Given the description of an element on the screen output the (x, y) to click on. 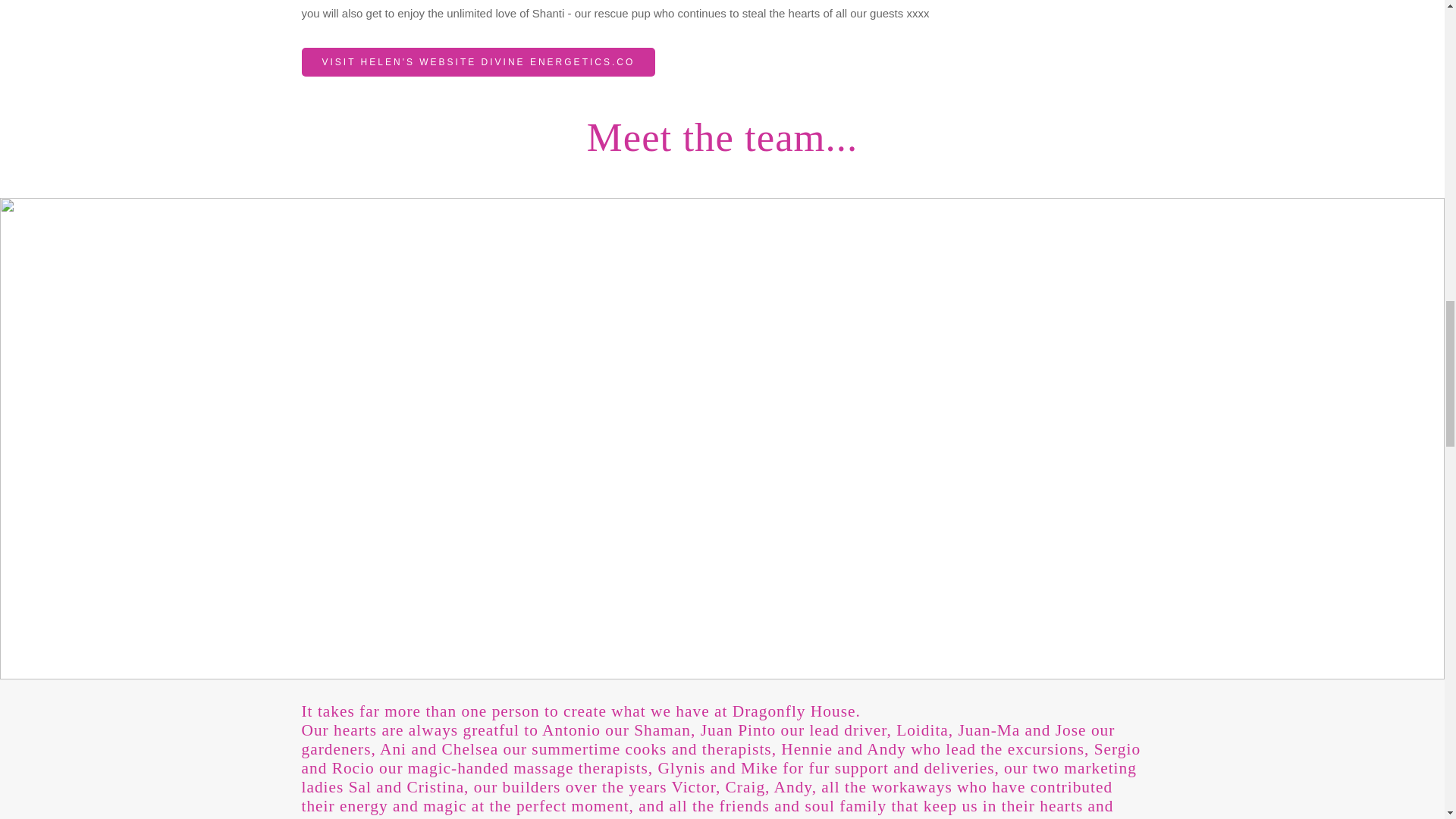
VISIT HELEN'S WEBSITE DIVINE ENERGETICS.CO (478, 61)
Divine energetics.co (478, 61)
